Given the description of an element on the screen output the (x, y) to click on. 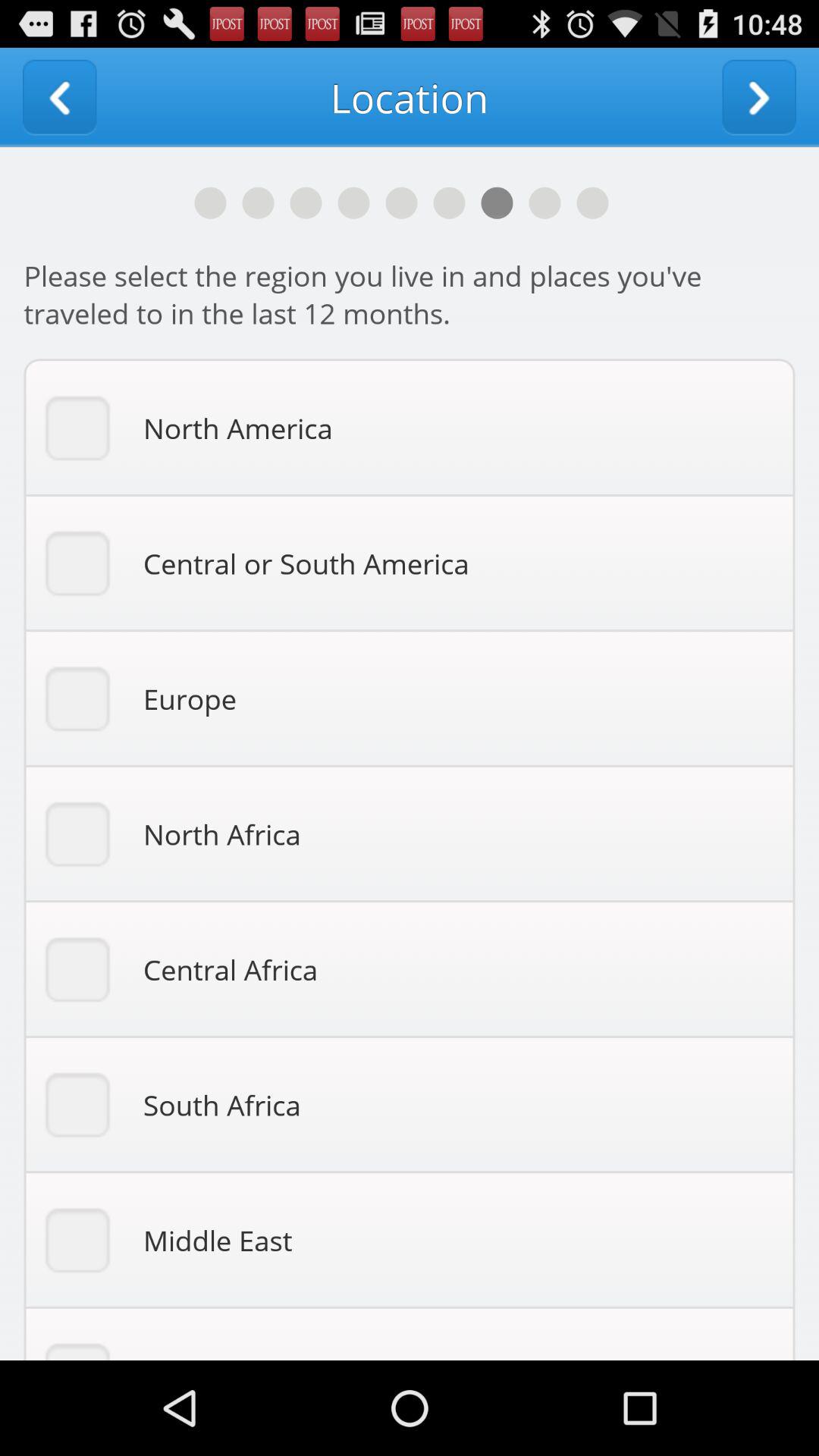
previous screen (59, 97)
